Given the description of an element on the screen output the (x, y) to click on. 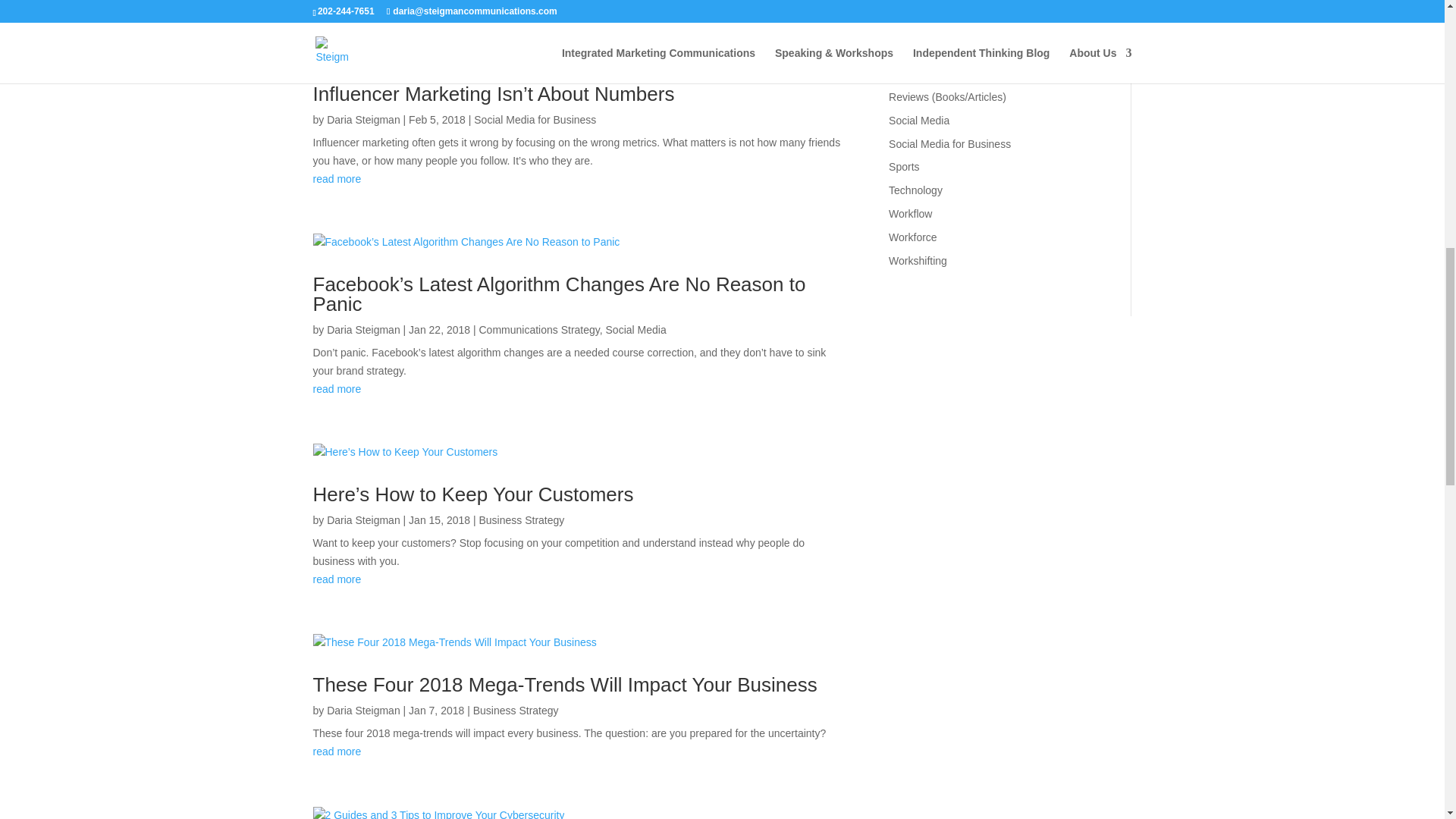
Daria Steigman (363, 329)
read more (578, 389)
Social Media for Business (534, 119)
Daria Steigman (363, 520)
Posts by Daria Steigman (363, 329)
Daria Steigman (363, 119)
read more (578, 579)
read more (578, 179)
Posts by Daria Steigman (363, 710)
Posts by Daria Steigman (363, 520)
Business Strategy (521, 520)
Communications Strategy (539, 329)
Posts by Daria Steigman (363, 119)
Social Media (635, 329)
